Given the description of an element on the screen output the (x, y) to click on. 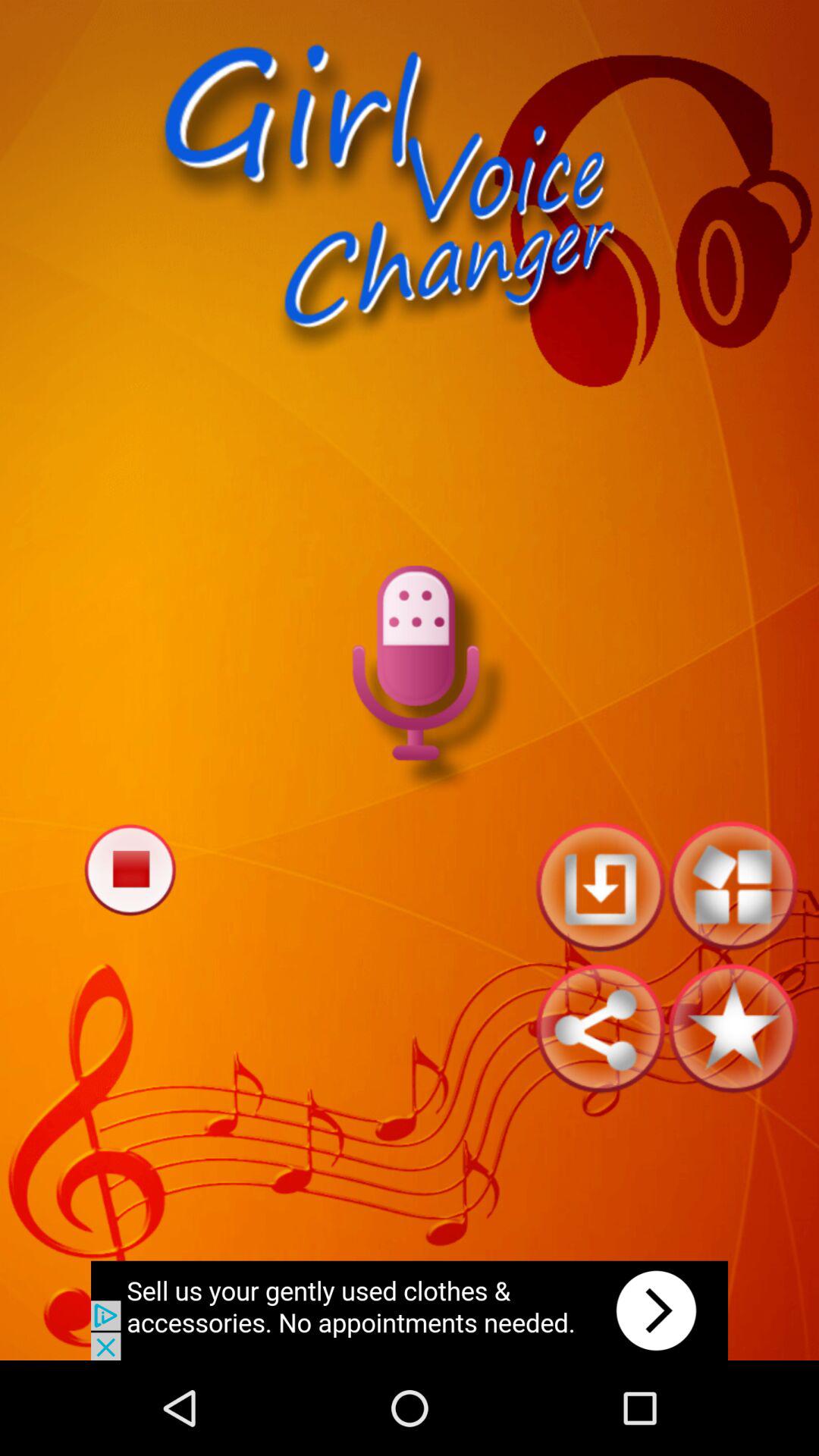
off (129, 869)
